Given the description of an element on the screen output the (x, y) to click on. 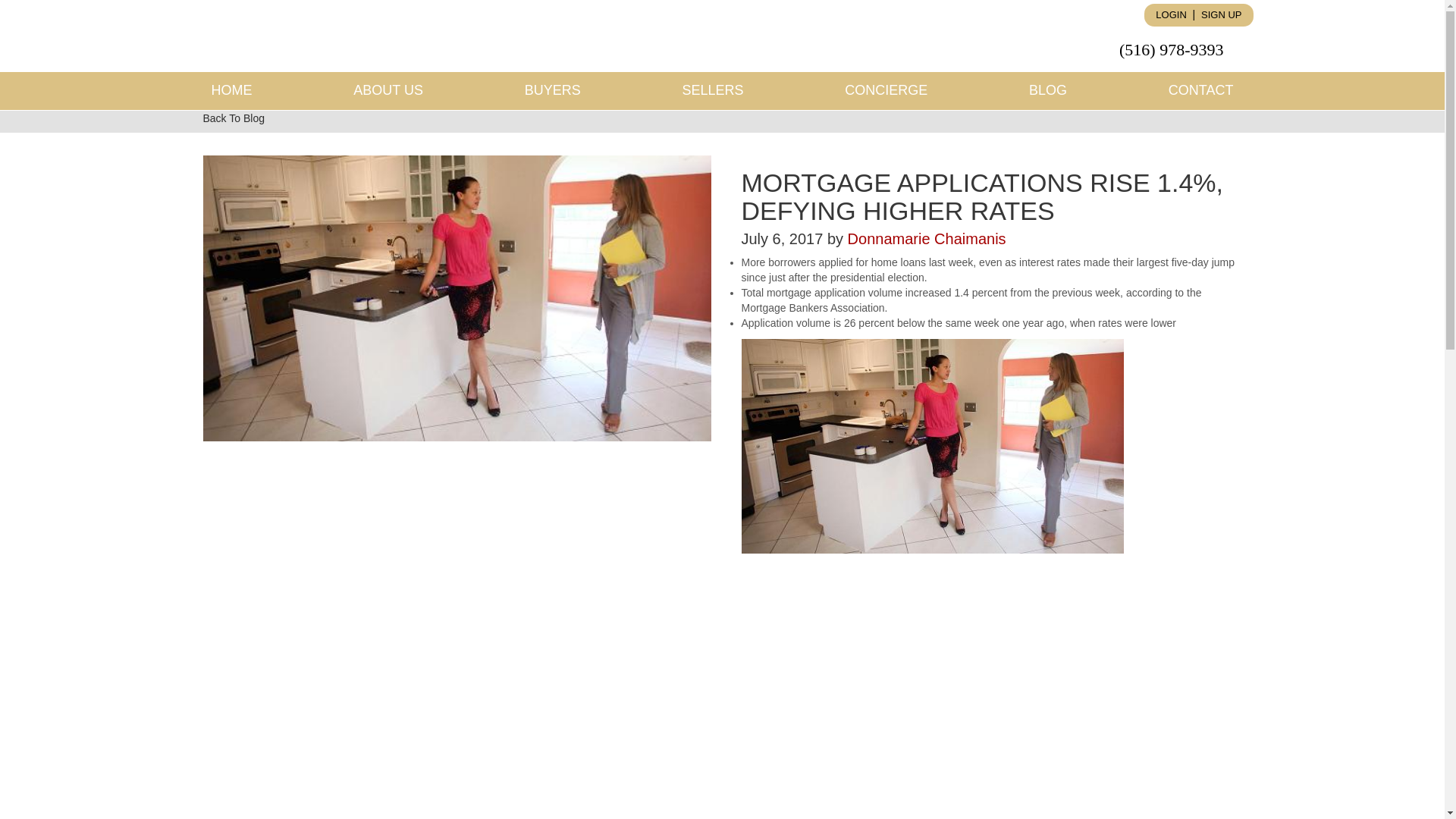
BLOG (1047, 90)
LOGIN (1171, 15)
HOME (230, 90)
Back To Blog (233, 119)
BUYERS (552, 90)
ABOUT US (387, 90)
CONCIERGE (886, 90)
CONTACT (1200, 90)
SIGN UP (1221, 15)
SELLERS (712, 90)
